Given the description of an element on the screen output the (x, y) to click on. 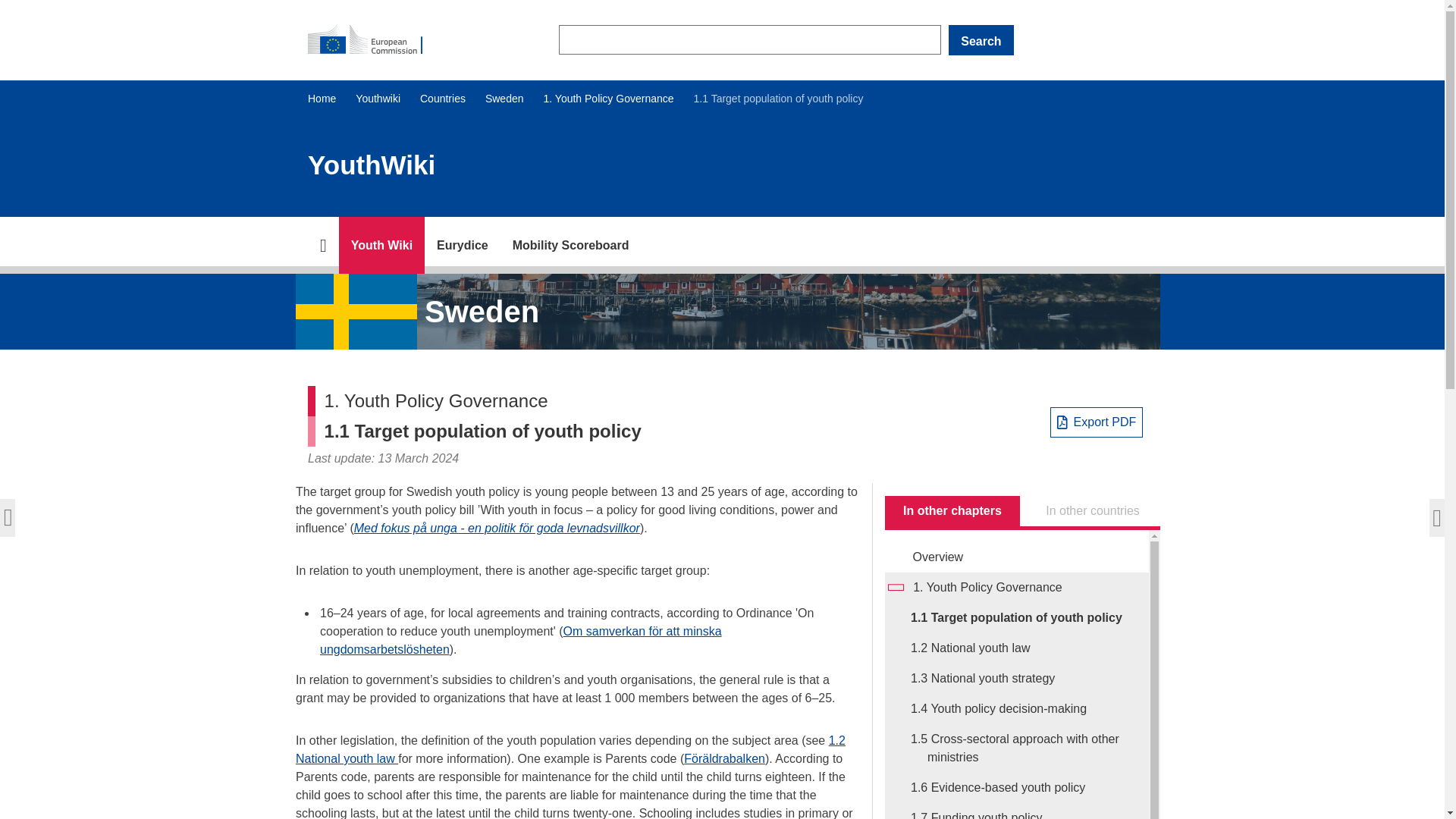
Search (981, 40)
National Policies Platform (382, 245)
Youth Wiki (382, 245)
European Commission (371, 40)
Eurydice (462, 245)
1. Youth Policy Governance (608, 98)
Skip to main content (5, 6)
Contact (462, 245)
Sweden (504, 98)
Home (321, 98)
Mobility Scoreboard (571, 245)
Countries (442, 98)
Youthwiki (377, 98)
